Given the description of an element on the screen output the (x, y) to click on. 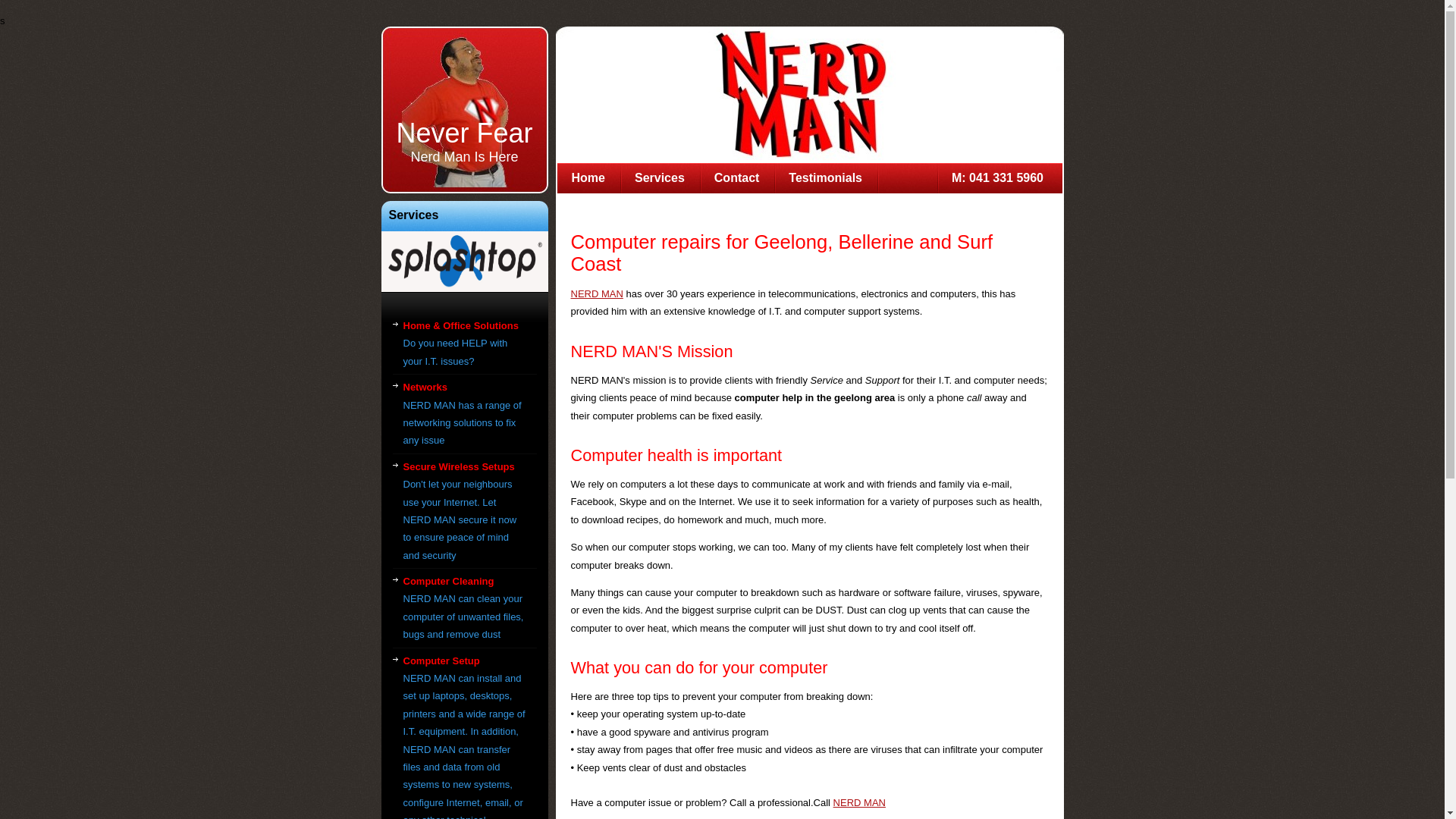
M: 041 331 5960 Element type: text (997, 178)
Services Element type: text (659, 178)
          Element type: text (907, 178)
NERD MAN Element type: text (596, 293)
Testimonials Element type: text (825, 178)
Download Splashtop Remote Control Element type: hover (463, 261)
NERD MAN Element type: text (859, 802)
Home Element type: text (587, 178)
Nerd Man Is Here Element type: text (463, 156)
Contact Element type: text (737, 178)
Never Fear Element type: text (463, 132)
